Given the description of an element on the screen output the (x, y) to click on. 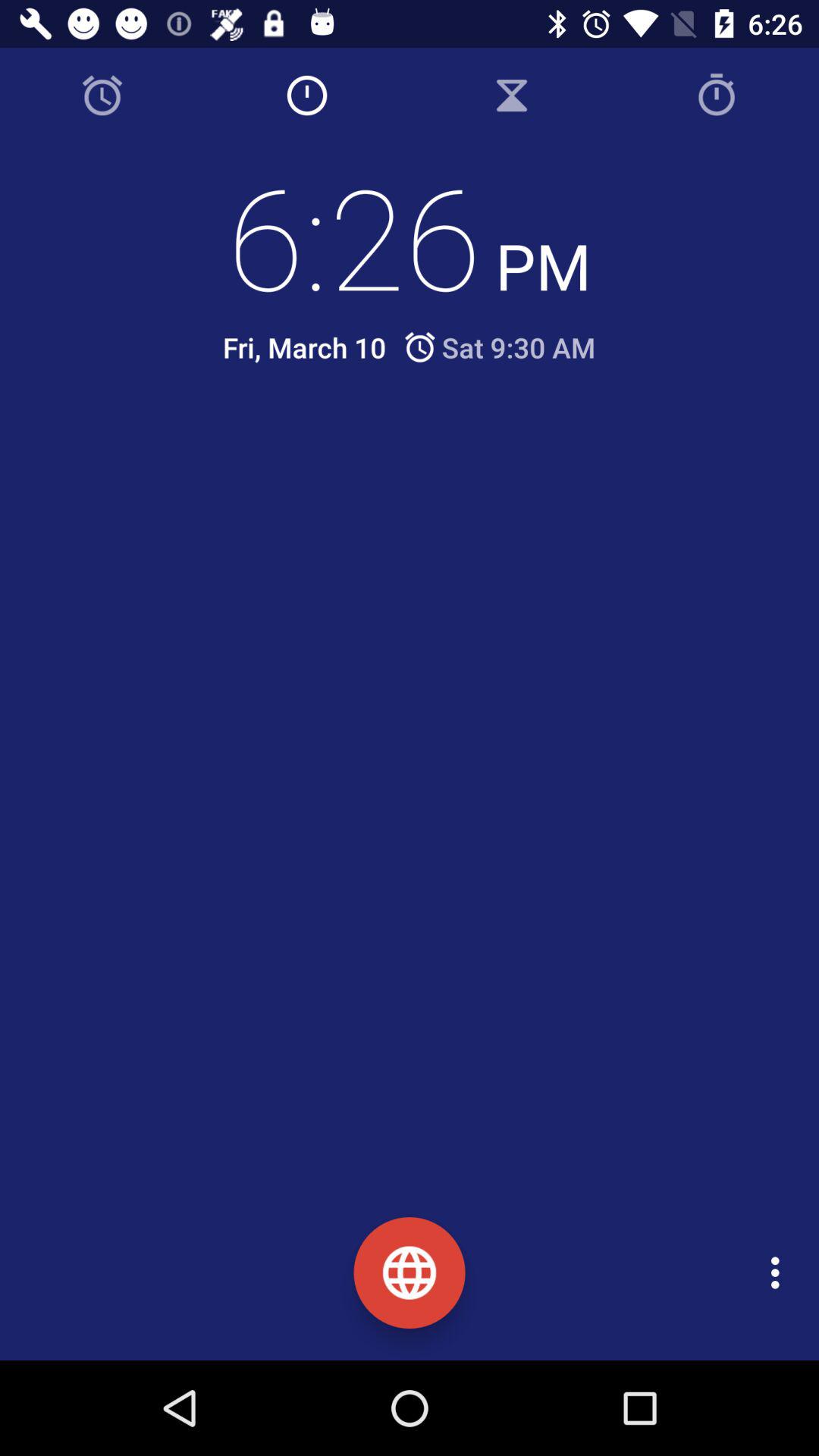
tap the icon at the bottom right corner (779, 1272)
